Given the description of an element on the screen output the (x, y) to click on. 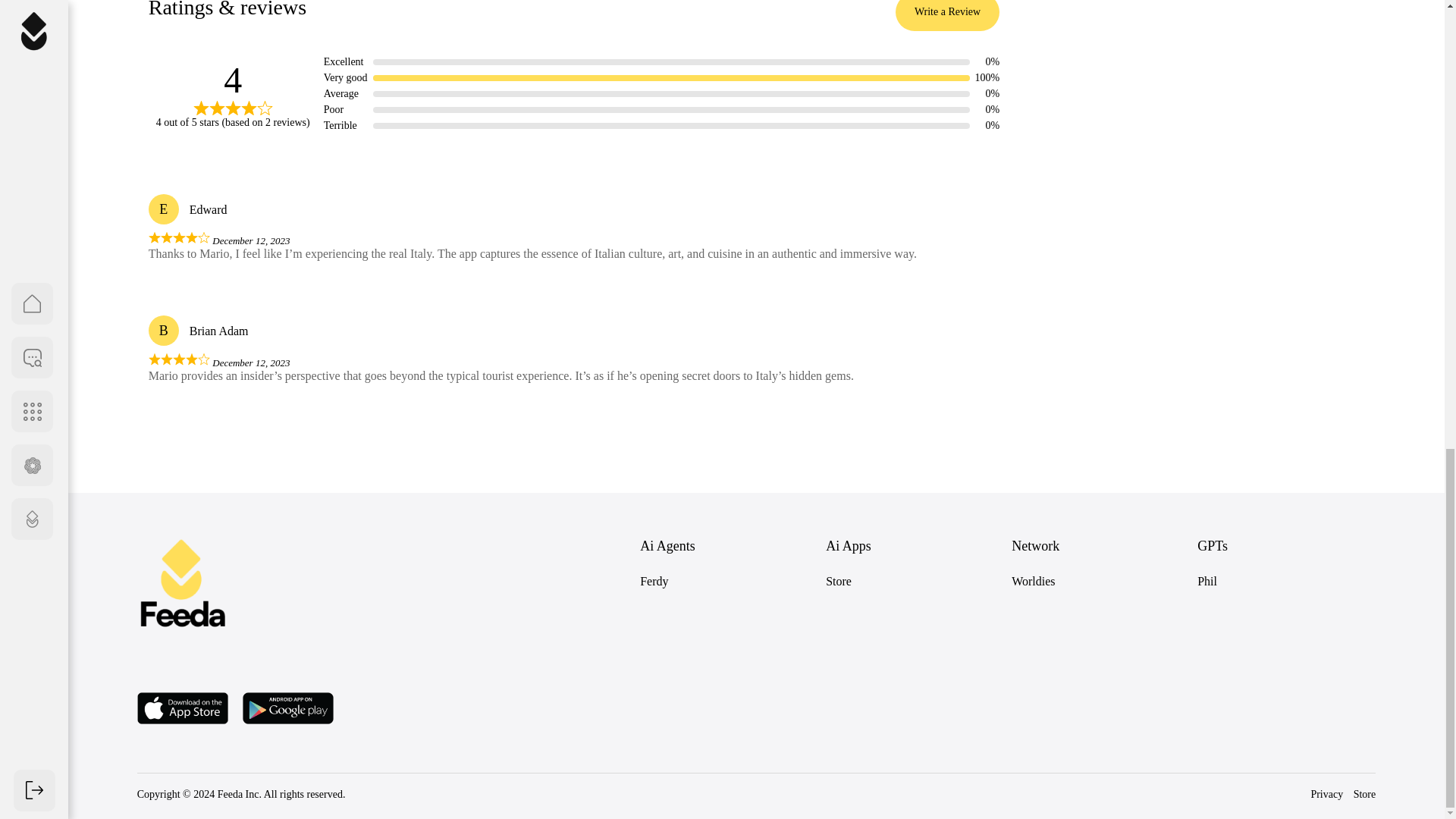
Store (838, 581)
Write a Review (946, 15)
Worldies (1032, 581)
Phil (1206, 581)
Ferdy (654, 581)
